Given the description of an element on the screen output the (x, y) to click on. 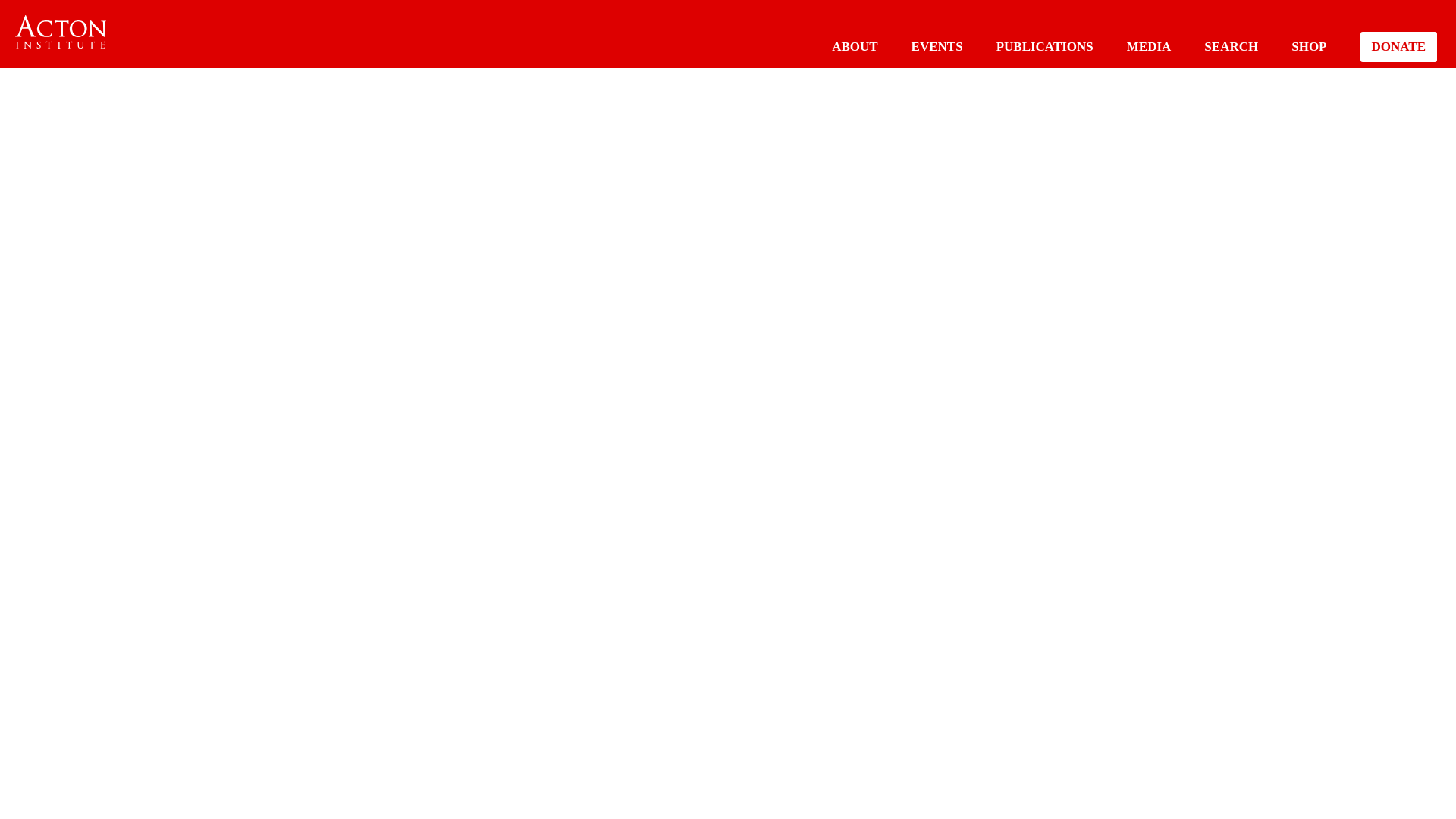
The Acton Institute (60, 31)
DONATE (1398, 46)
PUBLICATIONS (1044, 46)
SEARCH (1230, 46)
MEDIA (1149, 46)
ABOUT (854, 46)
SHOP (1308, 46)
EVENTS (936, 46)
